Given the description of an element on the screen output the (x, y) to click on. 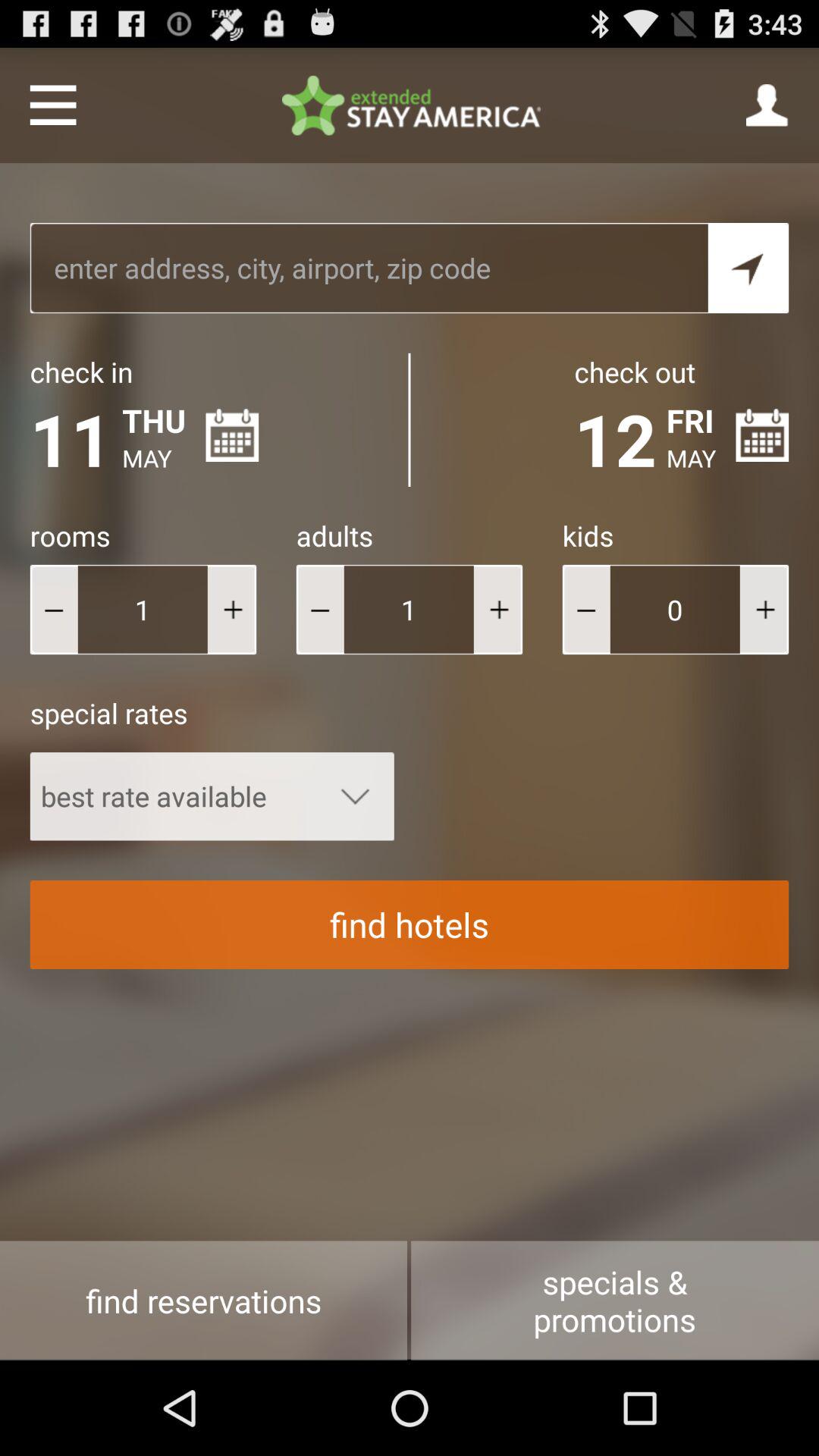
calender (761, 434)
